Given the description of an element on the screen output the (x, y) to click on. 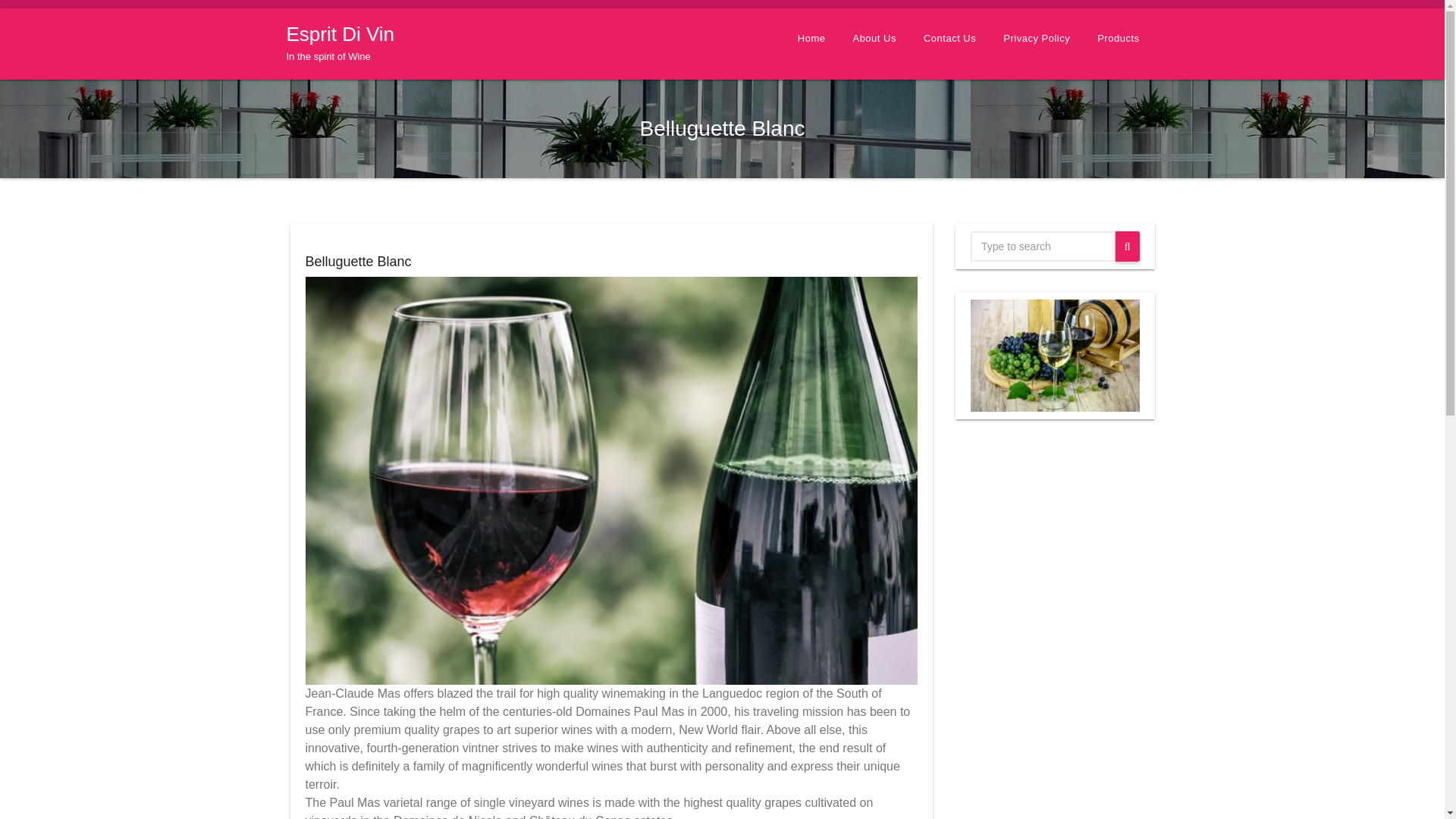
Home (812, 38)
Privacy Policy (1036, 38)
Contact Us (949, 38)
Home (812, 38)
About Us (873, 38)
Belluguette Blanc (357, 261)
Products (341, 43)
